Given the description of an element on the screen output the (x, y) to click on. 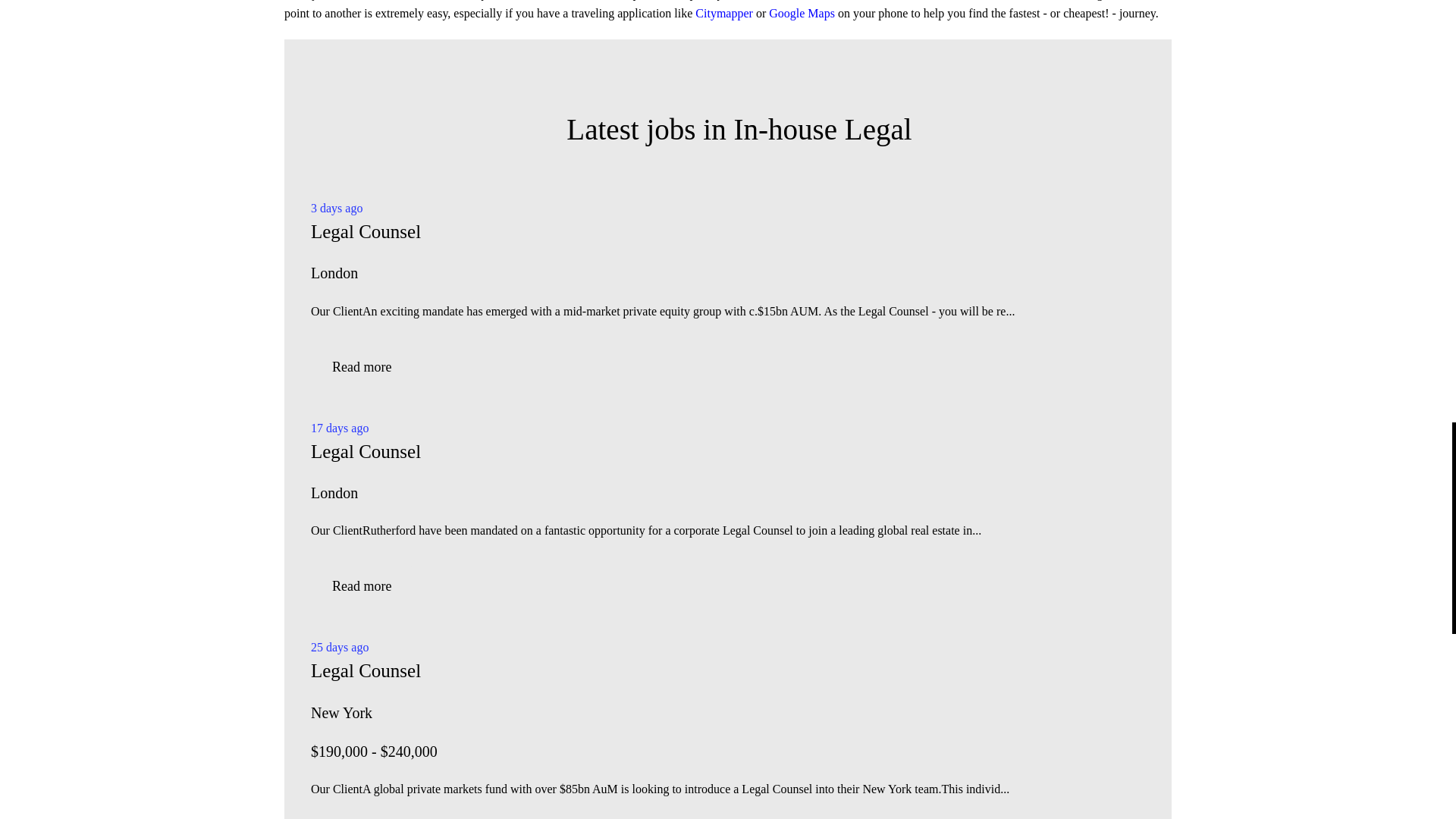
Google Maps (801, 12)
Citymapper (725, 12)
